Given the description of an element on the screen output the (x, y) to click on. 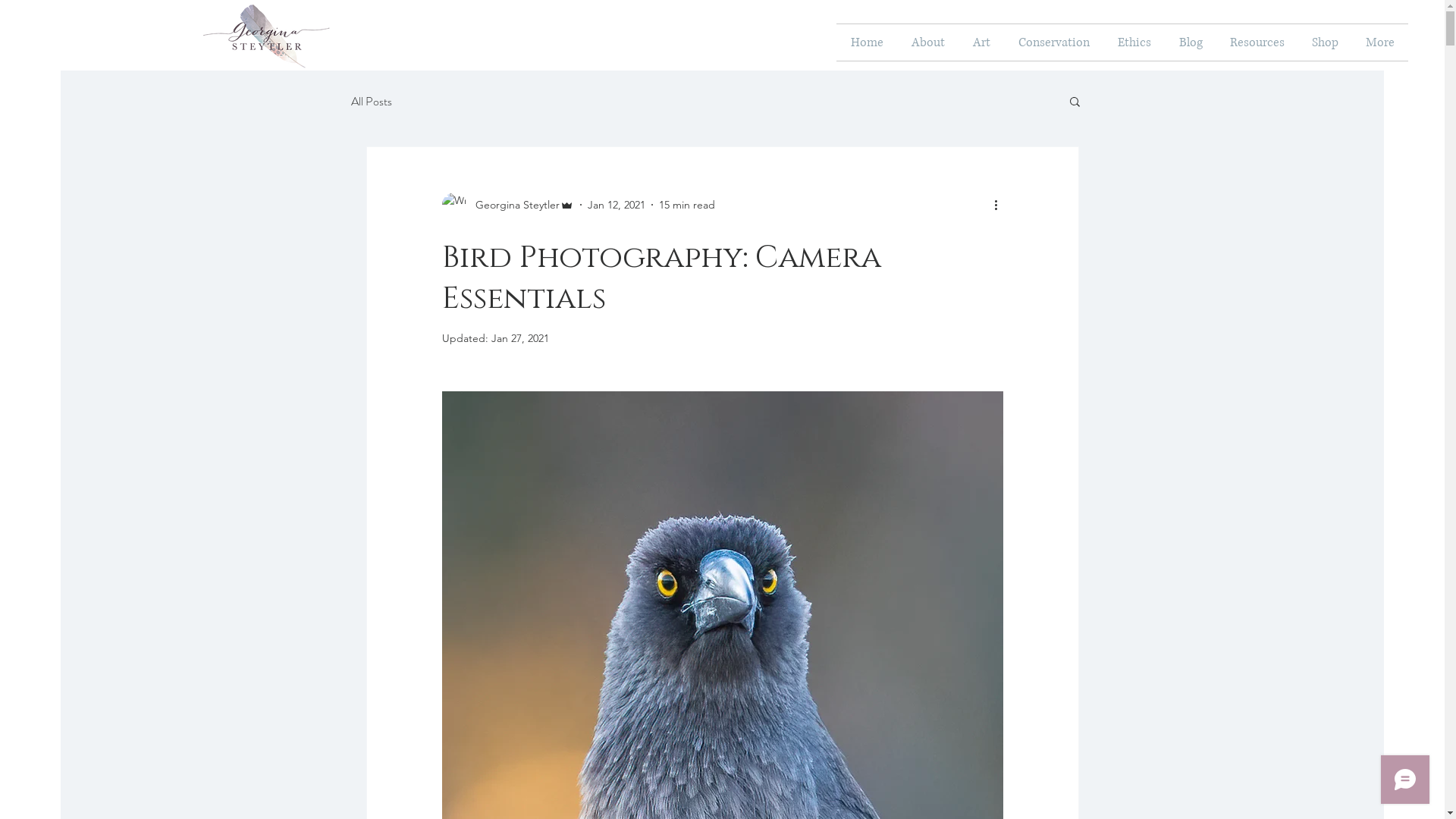
Blog Element type: text (1190, 42)
Resources Element type: text (1257, 42)
About Element type: text (927, 42)
All Posts Element type: text (370, 100)
Home Element type: text (866, 42)
Art Element type: text (981, 42)
Conservation Element type: text (1053, 42)
Shop Element type: text (1325, 42)
Ethics Element type: text (1133, 42)
